Given the description of an element on the screen output the (x, y) to click on. 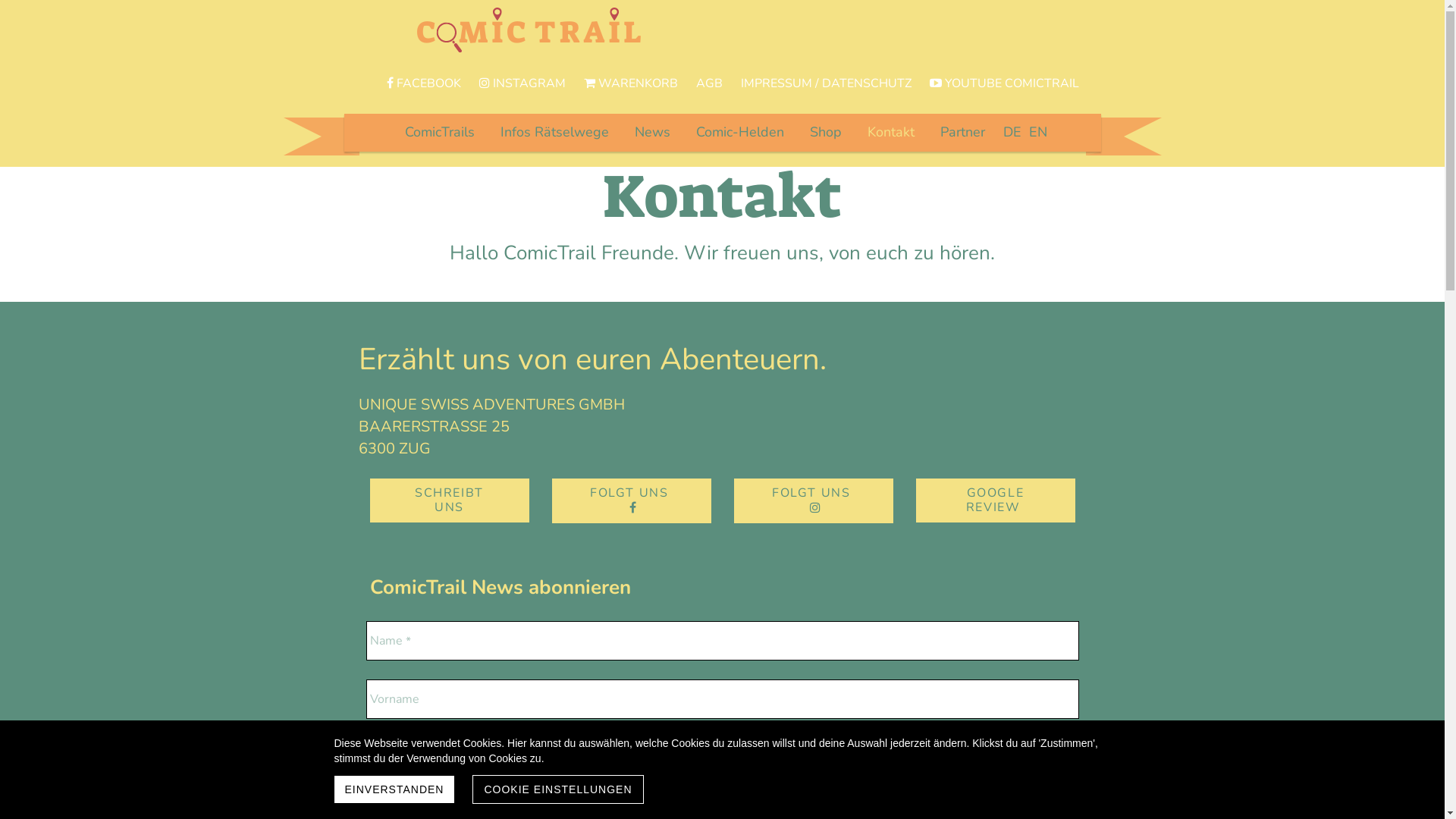
WARENKORB Element type: text (630, 83)
Shop Element type: text (825, 131)
SCHREIBT UNS Element type: text (449, 500)
Partner Element type: text (962, 131)
INSTAGRAM Element type: text (522, 83)
Kontakt Element type: text (890, 131)
AGB Element type: text (709, 83)
Comic-Helden Element type: text (739, 131)
FACEBOOK Element type: text (423, 83)
COOKIE EINSTELLUNGEN Element type: text (557, 789)
EN Element type: text (1038, 131)
YOUTUBE COMICTRAIL Element type: text (1004, 83)
ComicTrails Element type: text (439, 131)
News Element type: text (652, 131)
GOOGLE REVIEW  Element type: text (995, 500)
EINVERSTANDEN Element type: text (393, 789)
IMPRESSUM / DATENSCHUTZ Element type: text (825, 83)
DE Element type: text (1012, 131)
